Given the description of an element on the screen output the (x, y) to click on. 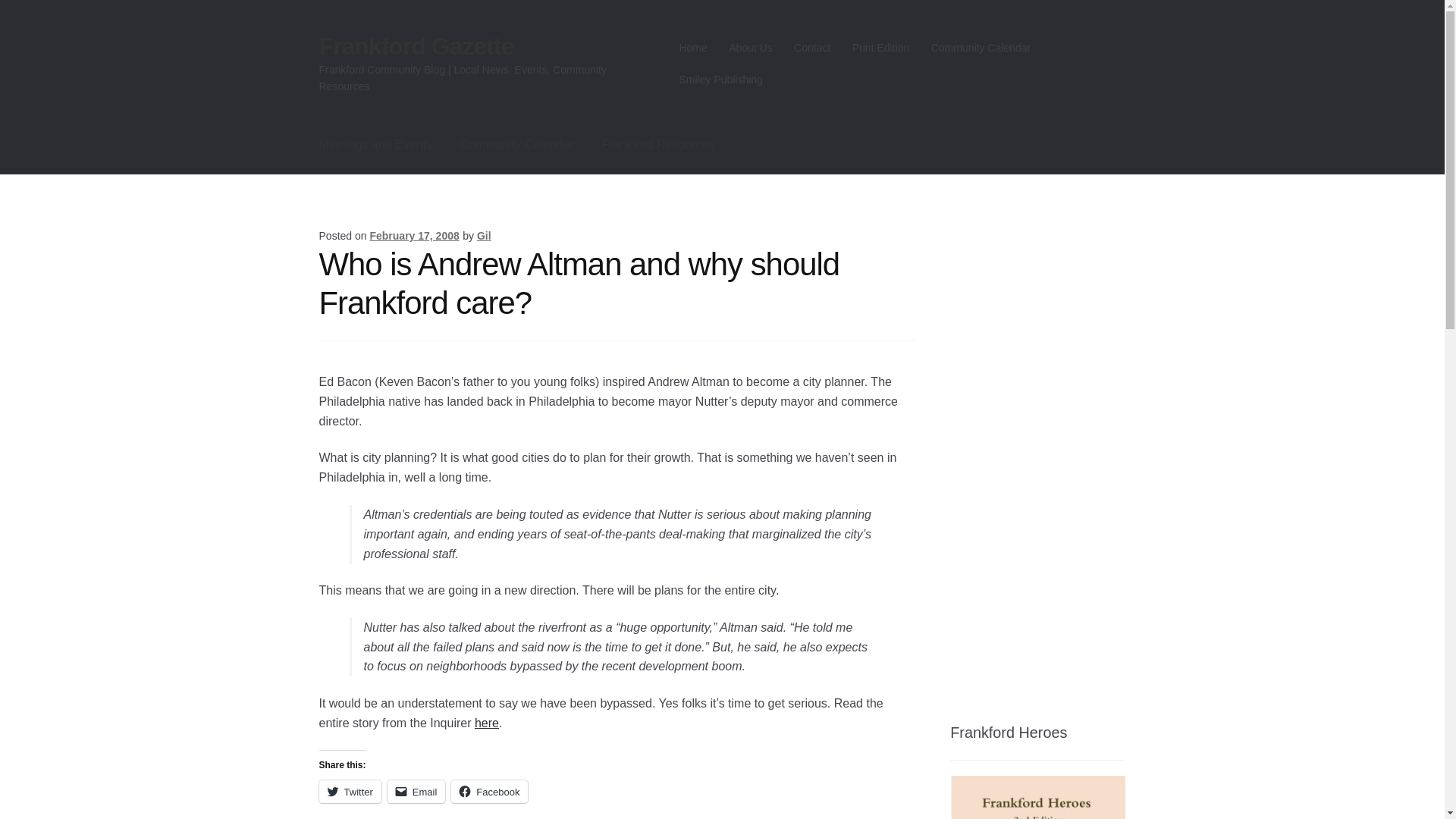
Contact (812, 47)
Click to email a link to a friend (416, 791)
Print Edition (880, 47)
Twitter (349, 791)
Gil (484, 235)
Community Calendar (980, 47)
Facebook (489, 791)
February 17, 2008 (413, 235)
About Us (750, 47)
